Given the description of an element on the screen output the (x, y) to click on. 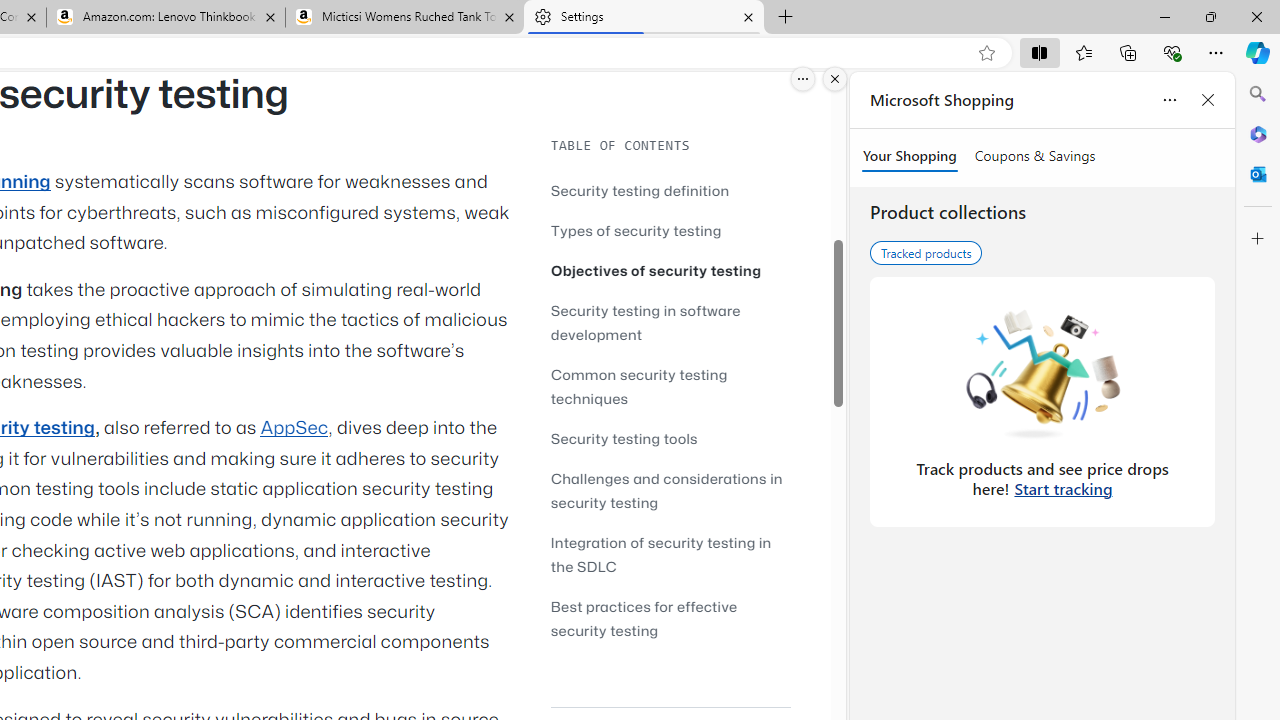
Close tab (747, 16)
Security testing in software development (645, 321)
Customize (1258, 239)
Close split screen. (835, 79)
Best practices for effective security testing (670, 618)
Restore (1210, 16)
Outlook (1258, 174)
Challenges and considerations in security testing (670, 489)
Integration of security testing in the SDLC (670, 553)
Best practices for effective security testing (644, 618)
Security testing tools (623, 438)
Split screen (1039, 52)
Collections (1128, 52)
Challenges and considerations in security testing (666, 490)
